Given the description of an element on the screen output the (x, y) to click on. 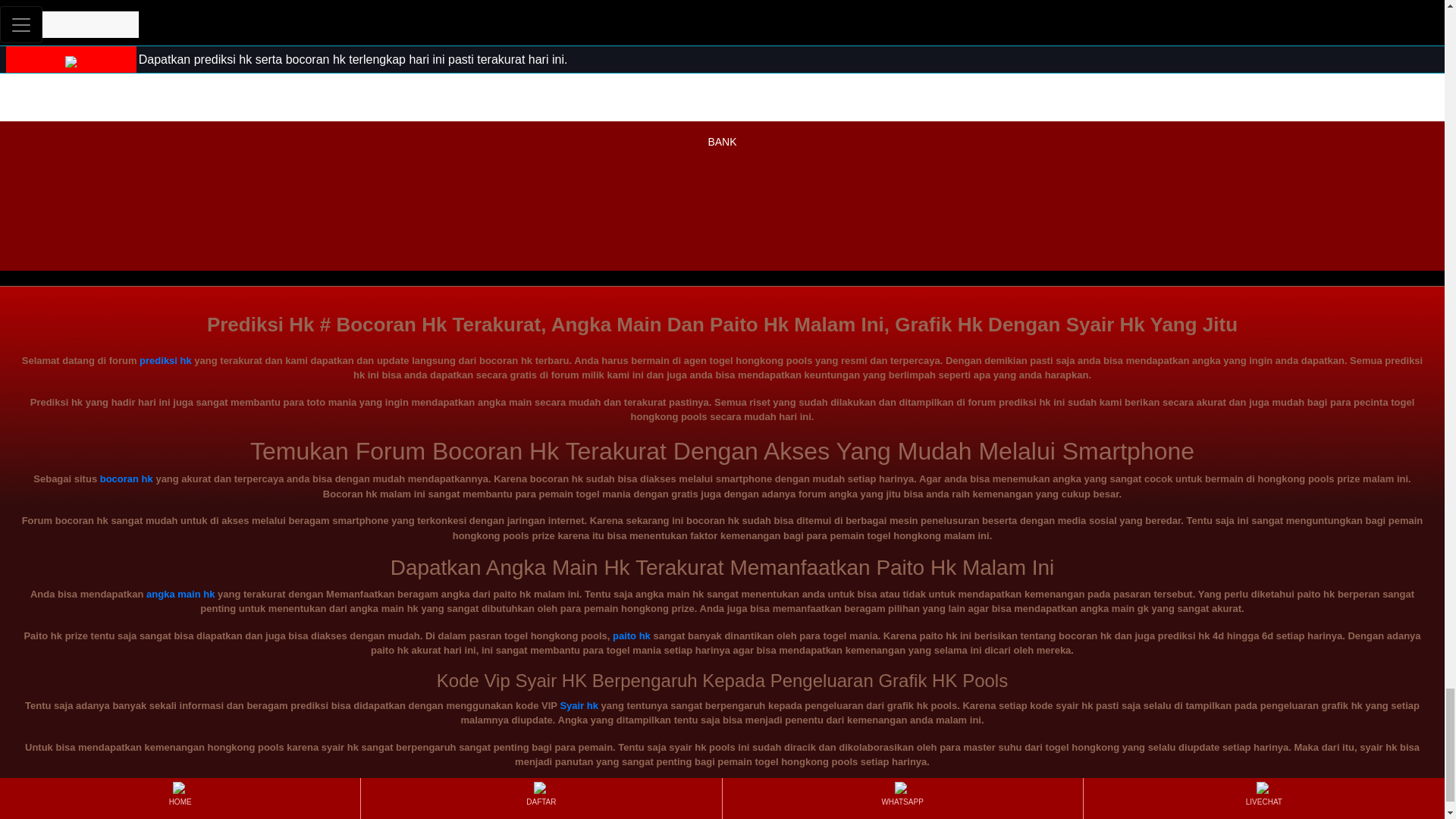
paito hk (631, 635)
prediksi hk (165, 360)
bocoran hk (126, 478)
angka main hk (180, 593)
Syair hk (578, 705)
